Given the description of an element on the screen output the (x, y) to click on. 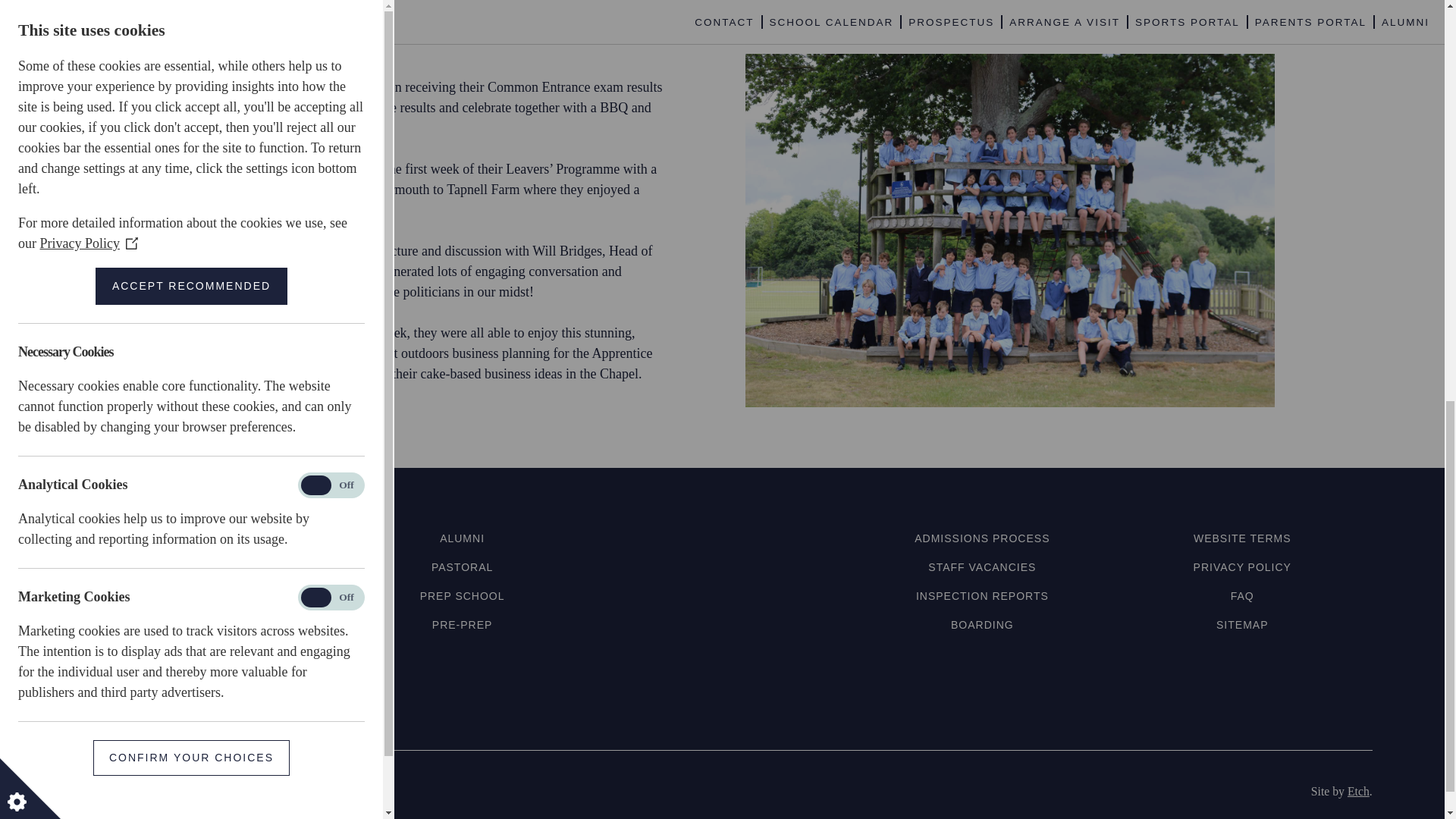
Alumni (461, 538)
Home (201, 538)
Ethos (202, 567)
Pastoral (461, 567)
Prep School (462, 595)
News (201, 595)
Contact us (202, 624)
